Given the description of an element on the screen output the (x, y) to click on. 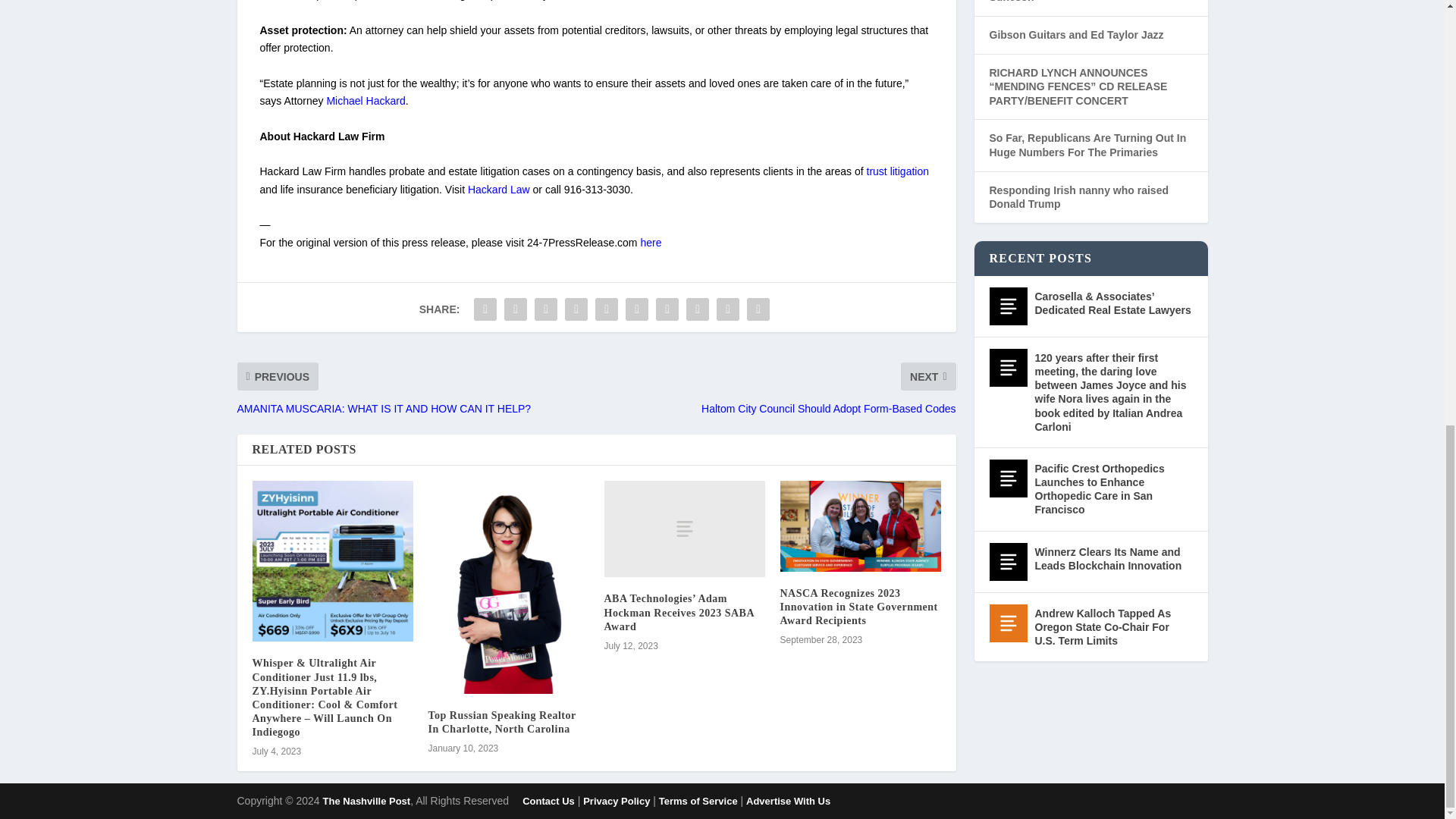
Hackard Law (498, 189)
Top Russian Speaking Realtor In Charlotte, North Carolina (501, 722)
trust litigation (897, 171)
here (650, 242)
Michael Hackard (365, 101)
